Given the description of an element on the screen output the (x, y) to click on. 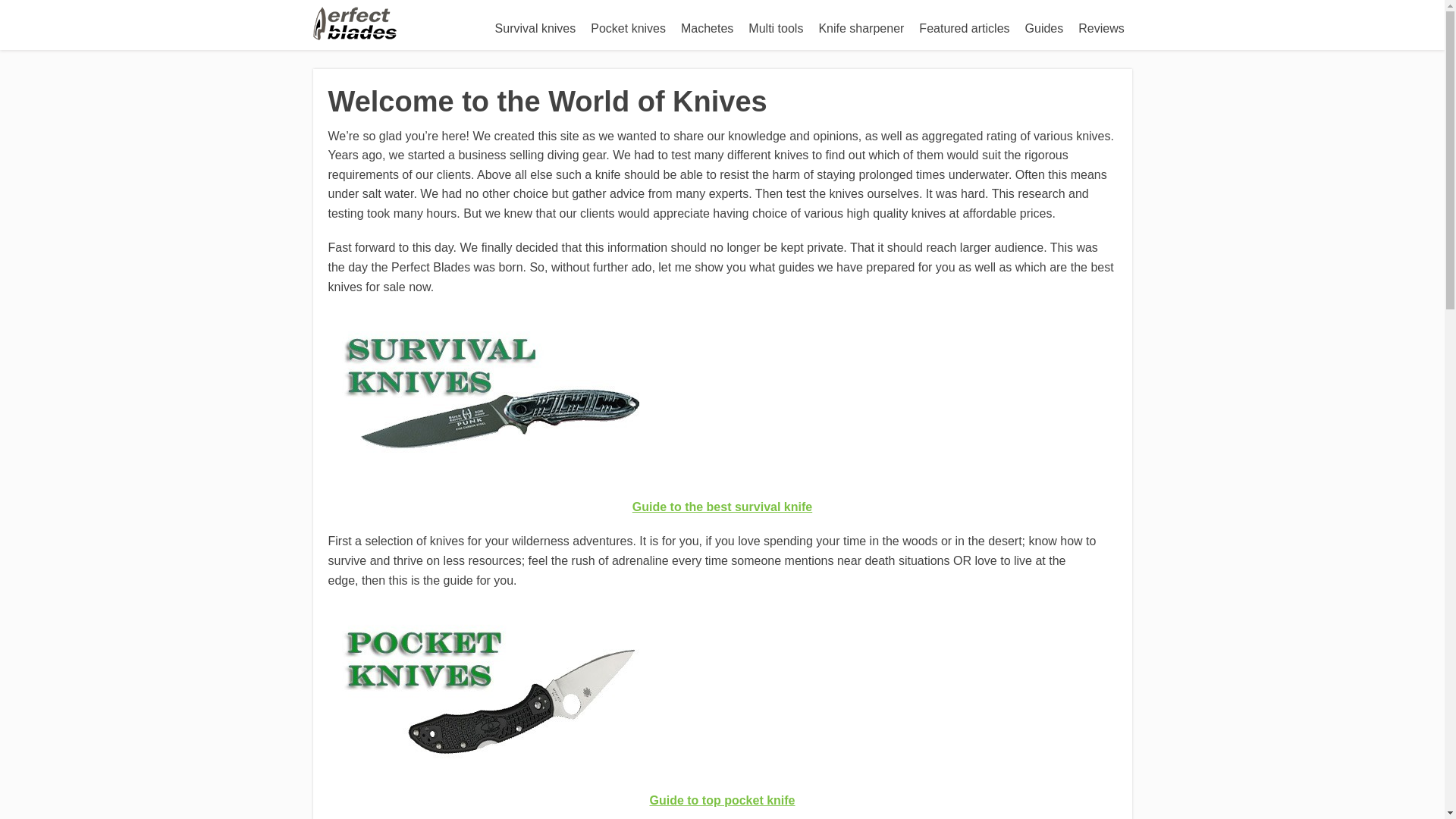
Featured articles (963, 28)
Guide to top pocket knife (721, 799)
Guides (1044, 28)
Pocket knives (627, 28)
Reviews (1100, 28)
Guide to the best survival knife (721, 506)
Machetes (706, 28)
Survival knives (535, 28)
Multi tools (775, 28)
Knife sharpener (860, 28)
